Given the description of an element on the screen output the (x, y) to click on. 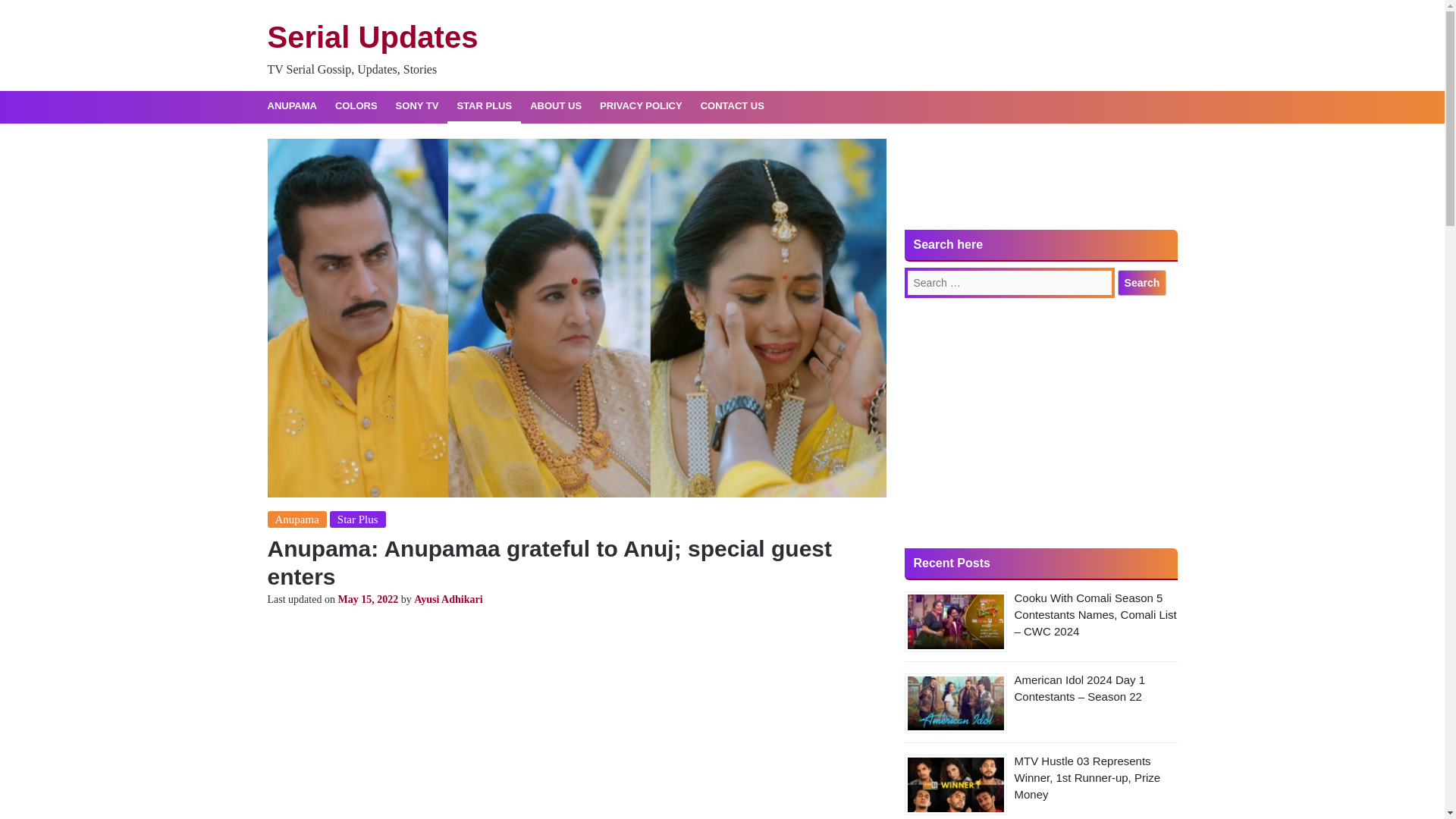
ANUPAMA (290, 106)
Search (1142, 282)
Anupama (296, 519)
Search (1142, 282)
SONY TV (417, 106)
PRIVACY POLICY (641, 106)
CONTACT US (732, 106)
Star Plus (357, 519)
Serial Updates (371, 37)
MTV Hustle 03 Represents Winner, 1st Runner-up, Prize Money (1087, 777)
Advertisement (575, 719)
Advertisement (1040, 183)
ABOUT US (556, 106)
May 15, 2022 (367, 599)
STAR PLUS (483, 106)
